Given the description of an element on the screen output the (x, y) to click on. 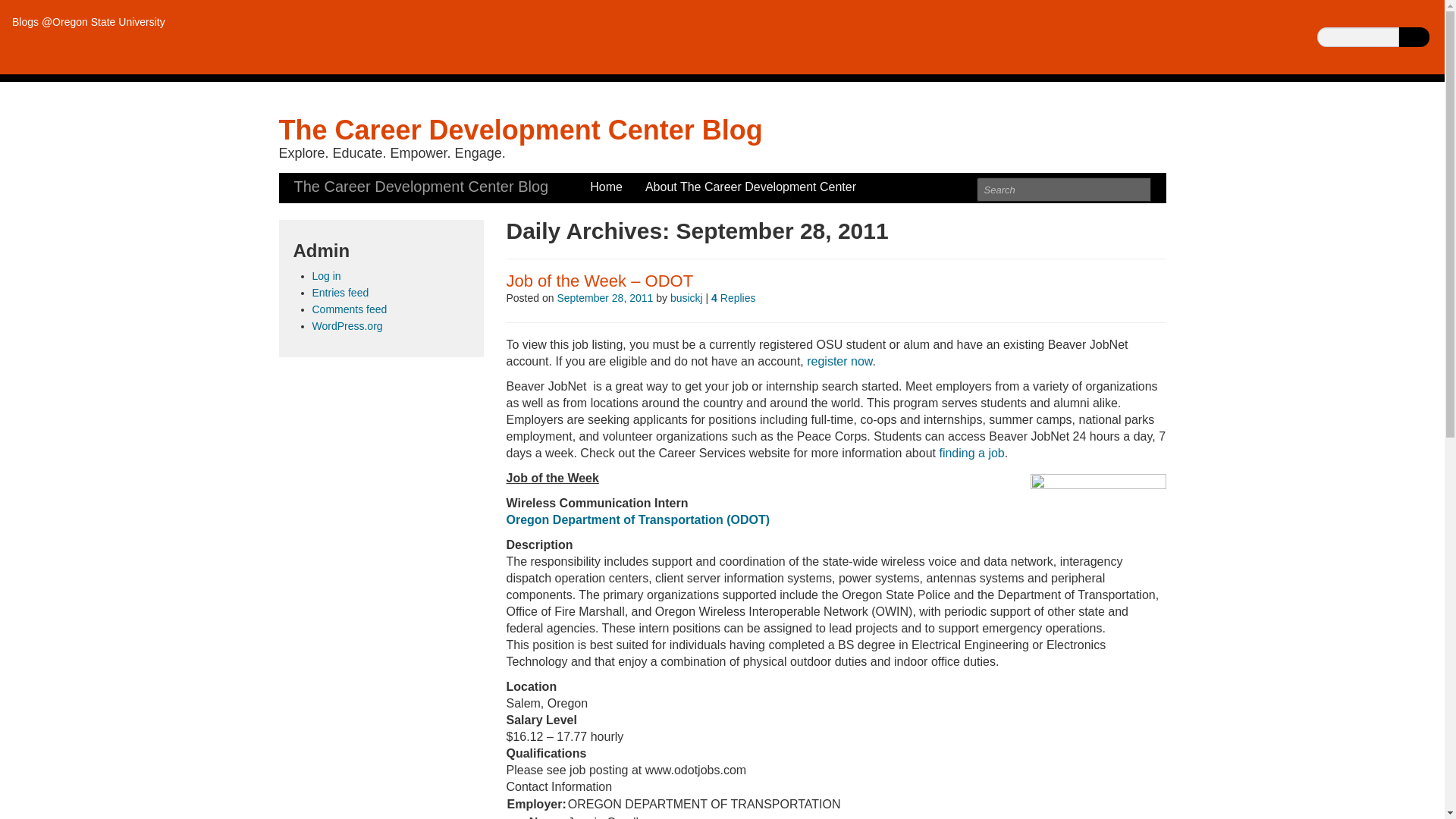
The Career Development Center Blog (520, 129)
Skip to secondary content (349, 180)
Home (606, 187)
The Career Development Center Blog (520, 129)
September 28, 2011 (604, 297)
Comments feed (350, 309)
5:20 pm (604, 297)
Entries feed (341, 292)
Beaver JobNet (839, 360)
About The Career Development Center (750, 187)
Finding a Job (970, 452)
Skip to primary content (341, 180)
finding a job (970, 452)
View all posts by busickj (686, 297)
Skip to primary content (341, 180)
